Given the description of an element on the screen output the (x, y) to click on. 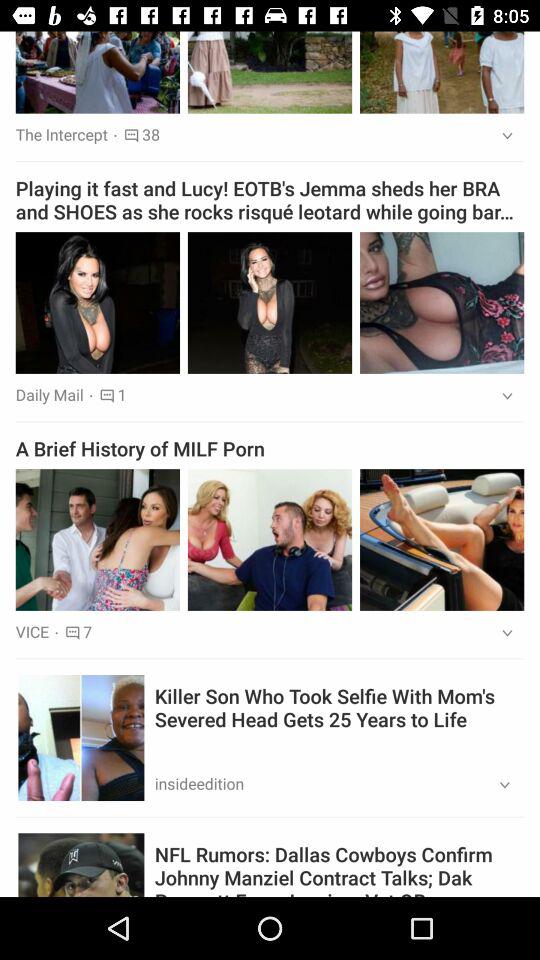
click the app above the nfl rumors dallas icon (498, 785)
